Given the description of an element on the screen output the (x, y) to click on. 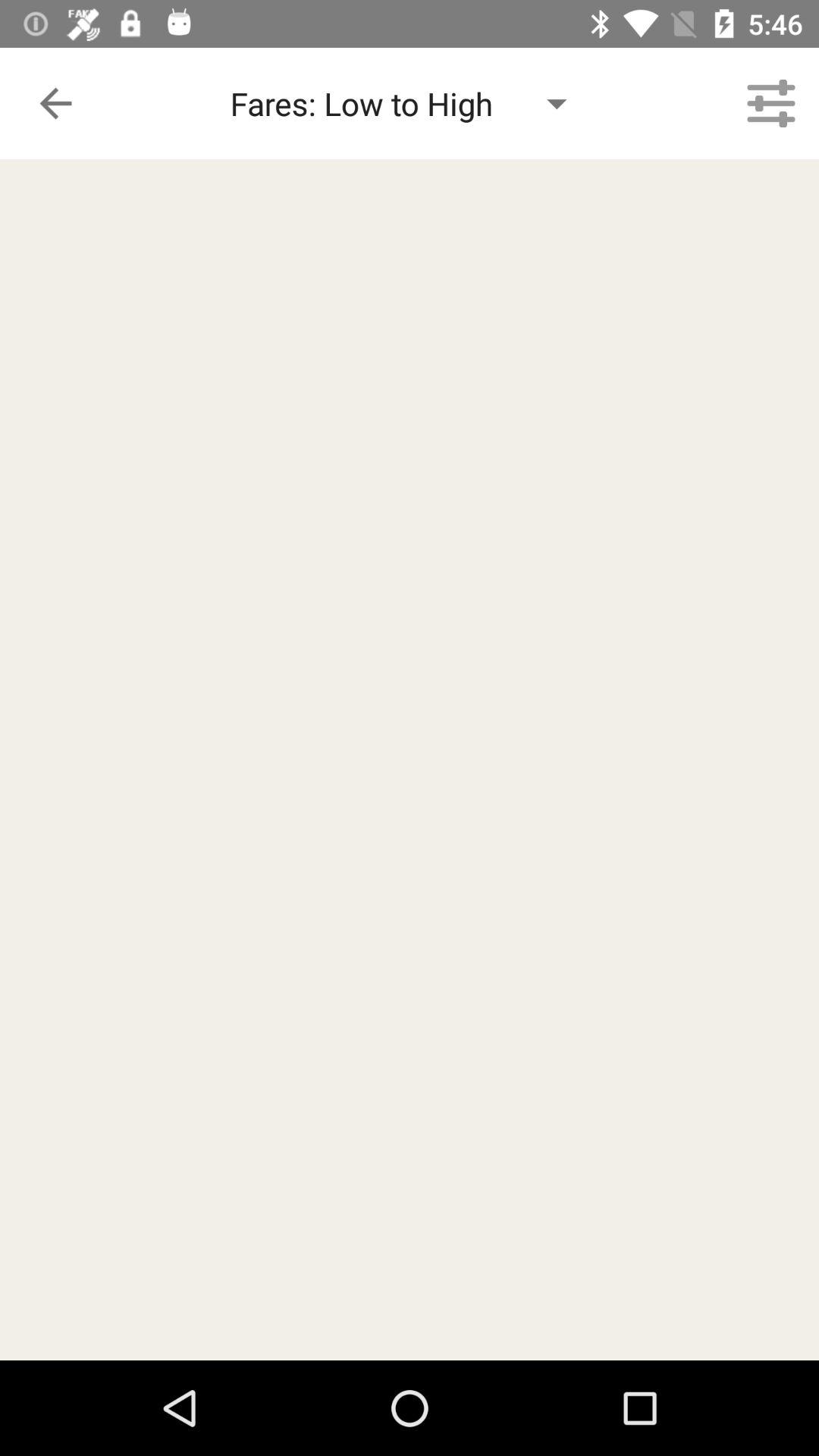
select the icon at the top left corner (55, 103)
